Given the description of an element on the screen output the (x, y) to click on. 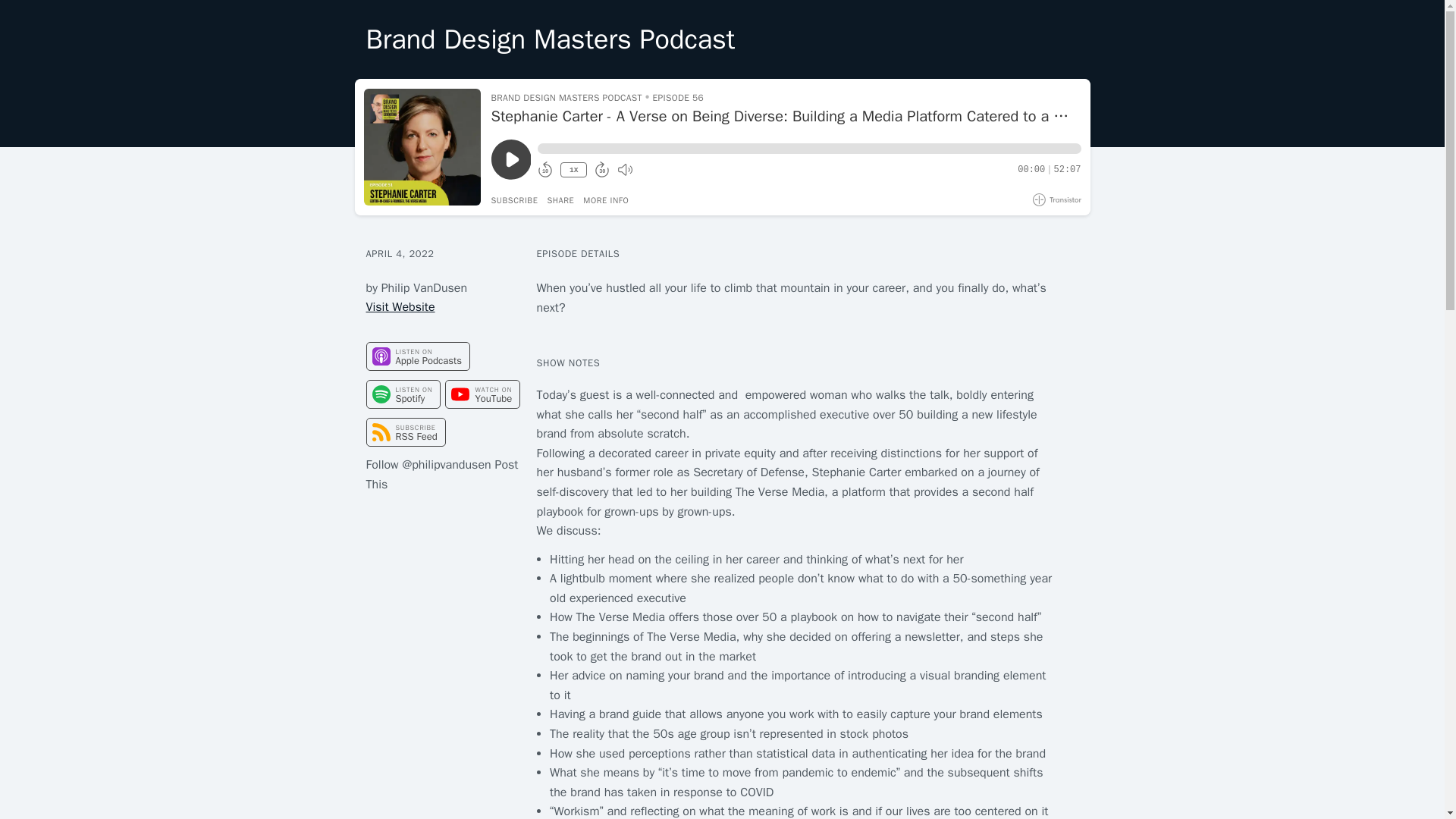
Rewind 10 seconds (545, 170)
Play (511, 159)
Visit Transistor.fm - Podcast Hosting and Analytics (1056, 199)
10 (545, 170)
MORE INFO (605, 200)
Show subscribe options (515, 200)
Seek within Episode (808, 148)
30 (602, 170)
Show episode details (605, 200)
1X (573, 169)
Fast Forward 30 seconds (602, 170)
SHARE (560, 200)
Show sharing options (560, 200)
SUBSCRIBE (515, 200)
